Given the description of an element on the screen output the (x, y) to click on. 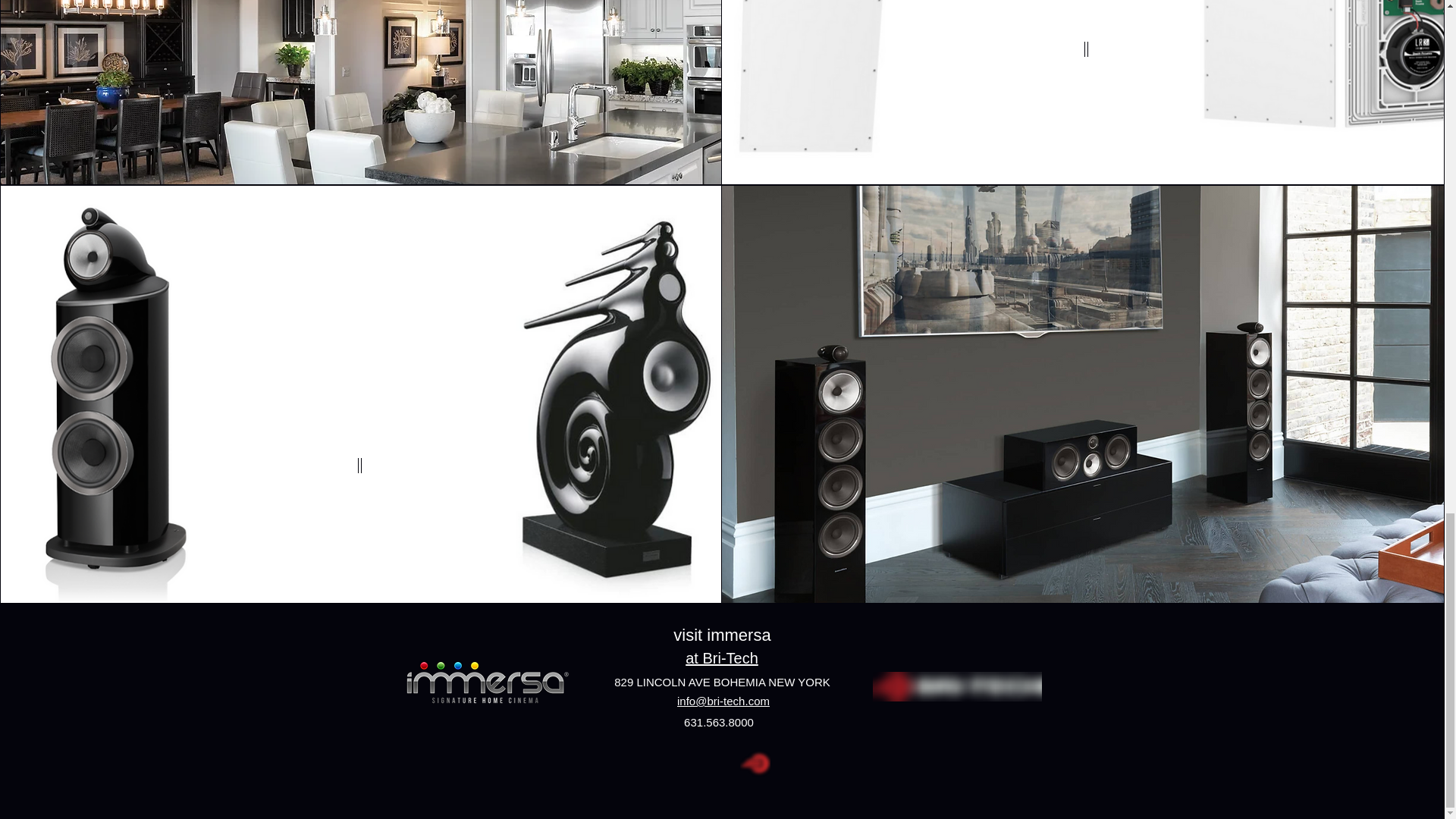
visit immersa (721, 634)
at Bri-Tech (721, 658)
